Given the description of an element on the screen output the (x, y) to click on. 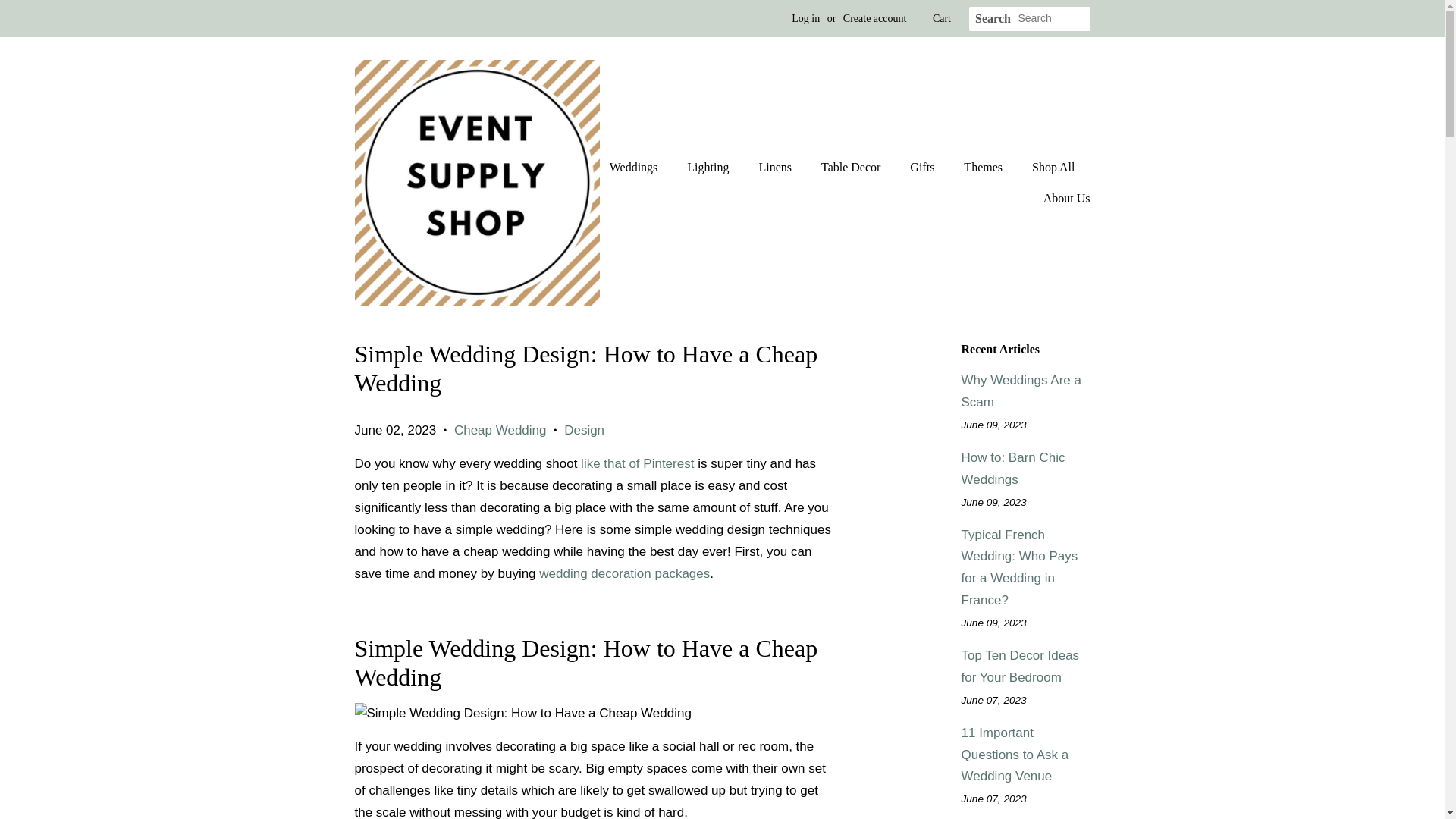
Lighting (709, 166)
Weddings (641, 166)
Log in (805, 18)
Cart (941, 18)
Create account (875, 18)
Search (993, 18)
Linens (776, 166)
